Given the description of an element on the screen output the (x, y) to click on. 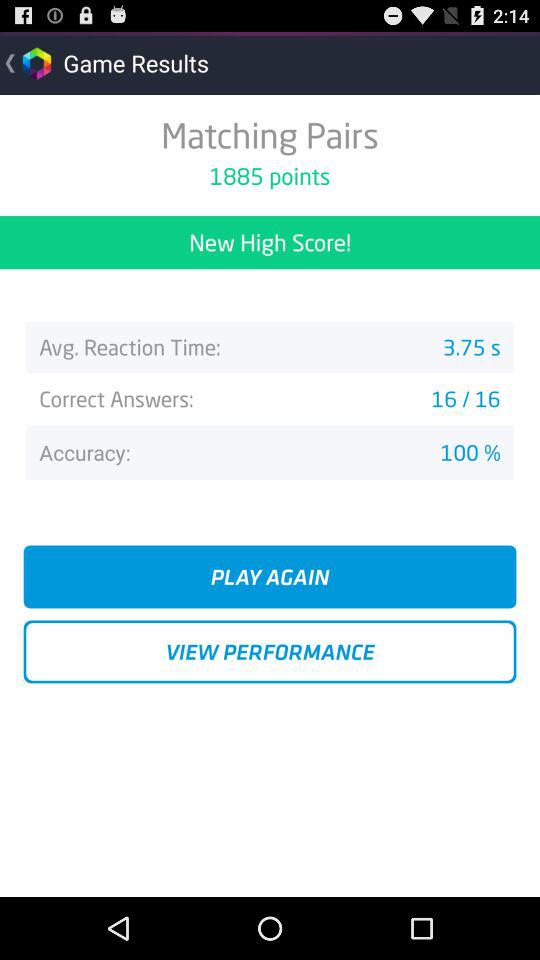
launch the view performance (269, 651)
